Given the description of an element on the screen output the (x, y) to click on. 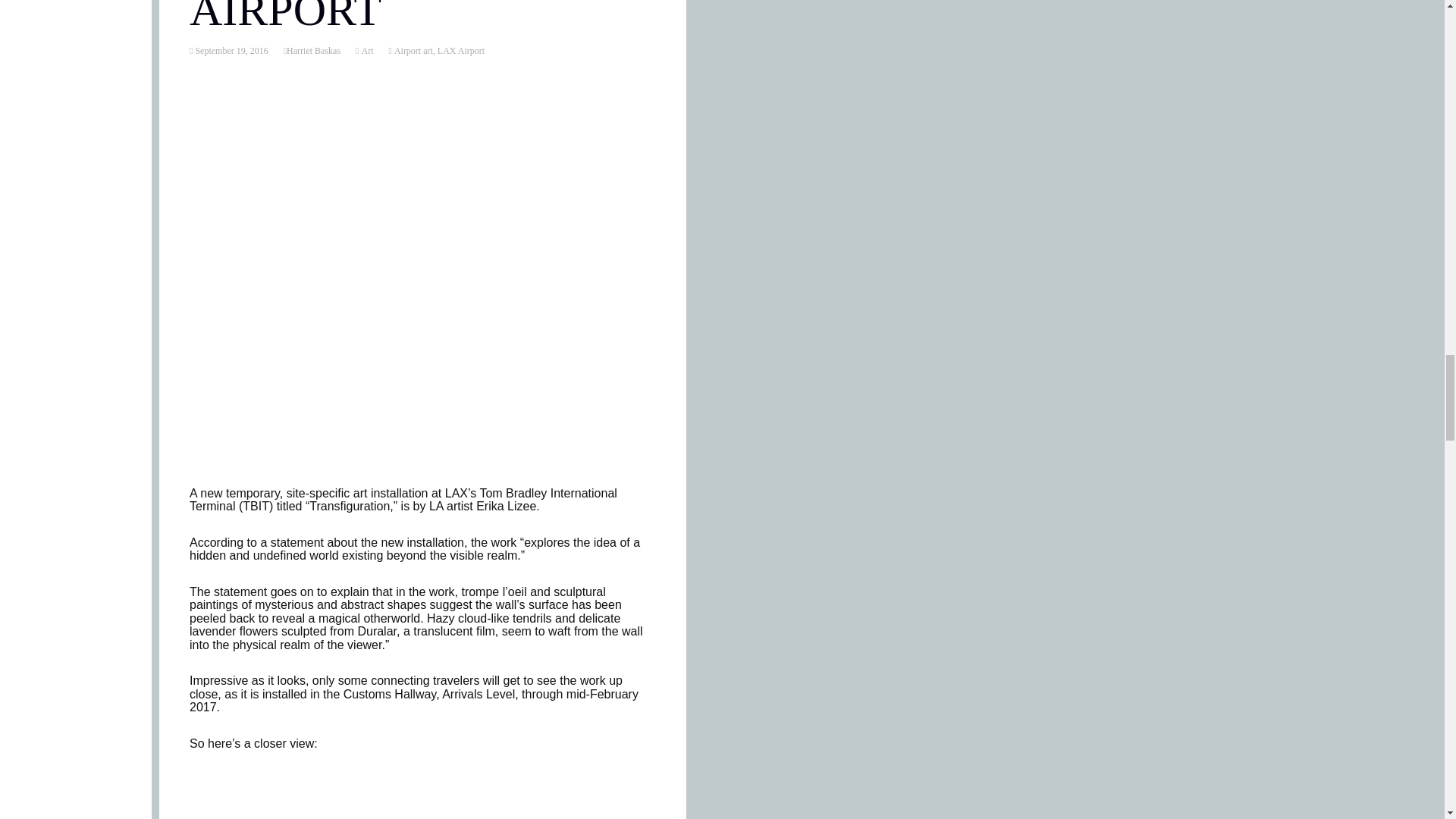
September 19, 2016 (229, 50)
Harriet Baskas (313, 50)
Airport art (411, 50)
Art (365, 50)
View all posts by Harriet Baskas (313, 50)
LAX Airport (461, 50)
